Given the description of an element on the screen output the (x, y) to click on. 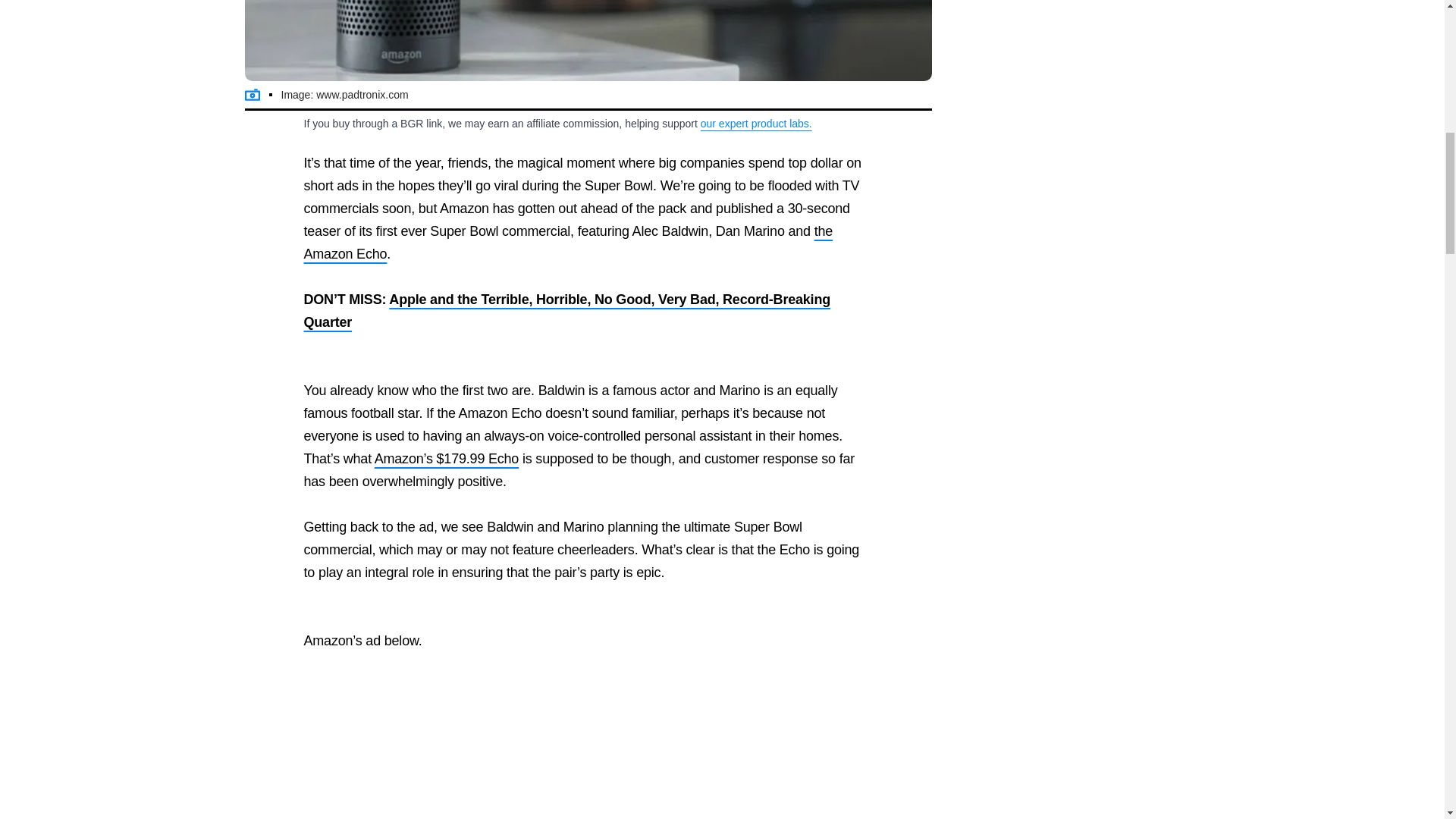
Amazon Super Bowl Commercial Baldwin Marino (587, 40)
